Given the description of an element on the screen output the (x, y) to click on. 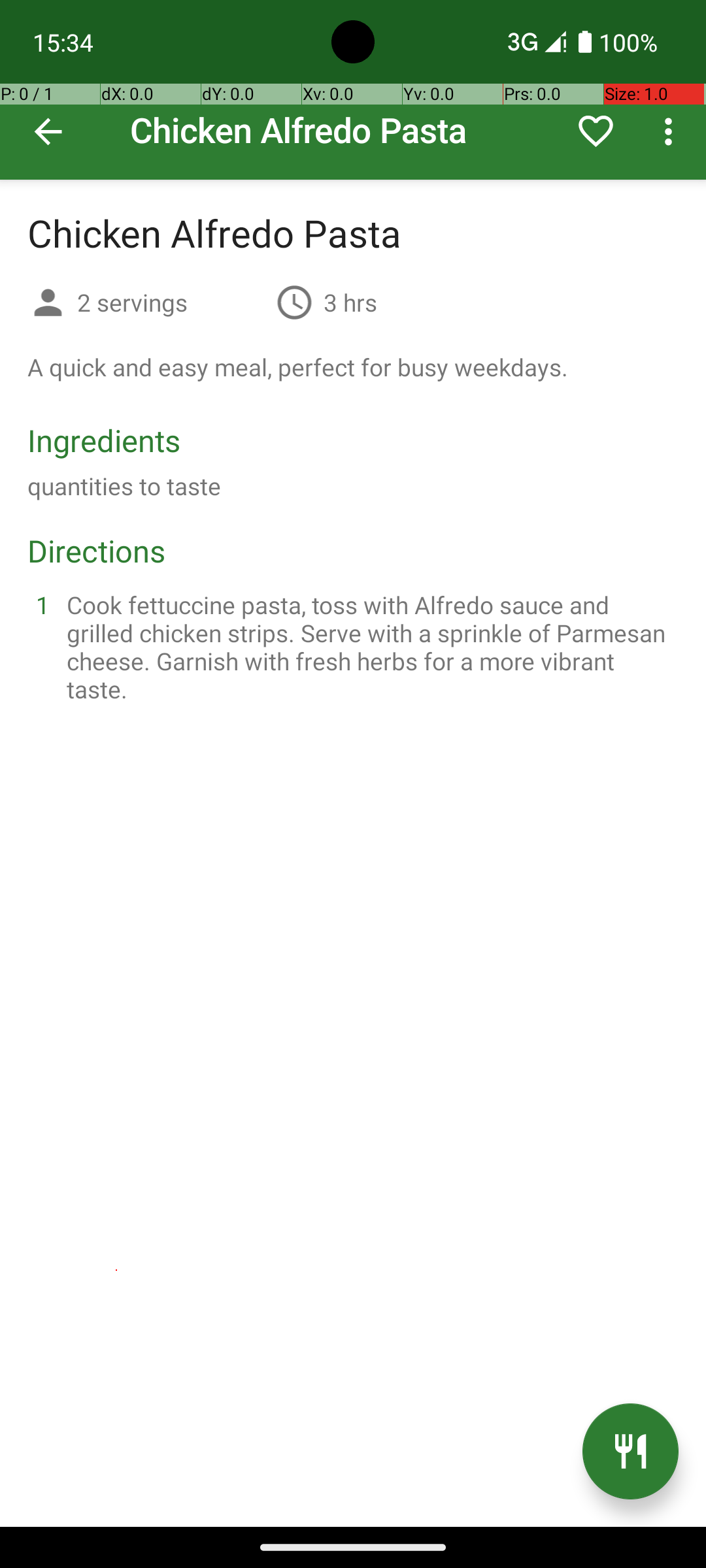
Chicken Alfredo Pasta Element type: android.widget.FrameLayout (353, 89)
2 servings Element type: android.widget.TextView (170, 301)
3 hrs Element type: android.widget.TextView (350, 301)
quantities to taste Element type: android.widget.TextView (123, 485)
Cook fettuccine pasta, toss with Alfredo sauce and grilled chicken strips. Serve with a sprinkle of Parmesan cheese. Garnish with fresh herbs for a more vibrant taste. Element type: android.widget.TextView (368, 646)
